Given the description of an element on the screen output the (x, y) to click on. 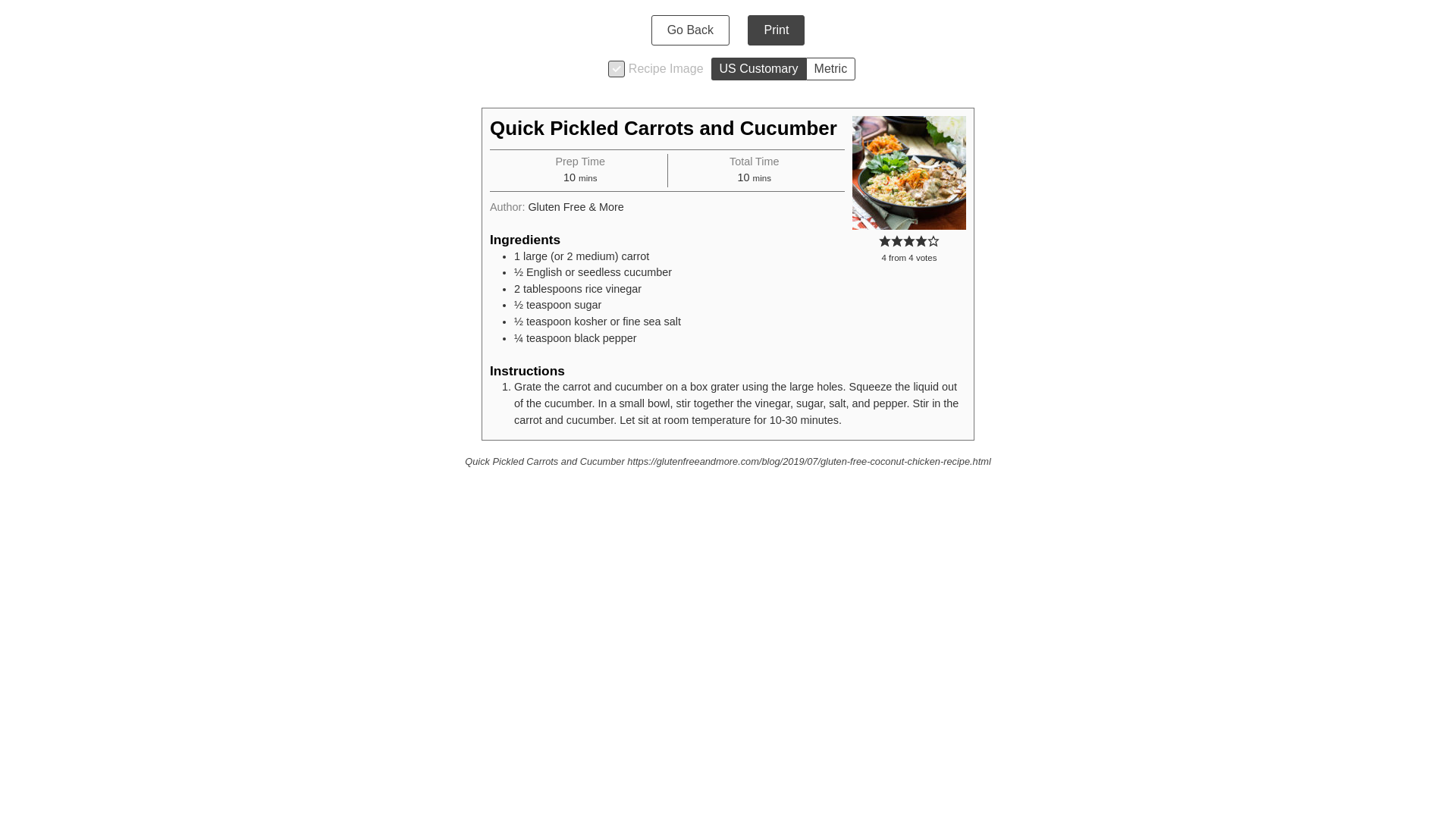
US Customary (758, 68)
Print (776, 30)
Go Back (689, 30)
Metric (831, 68)
